Given the description of an element on the screen output the (x, y) to click on. 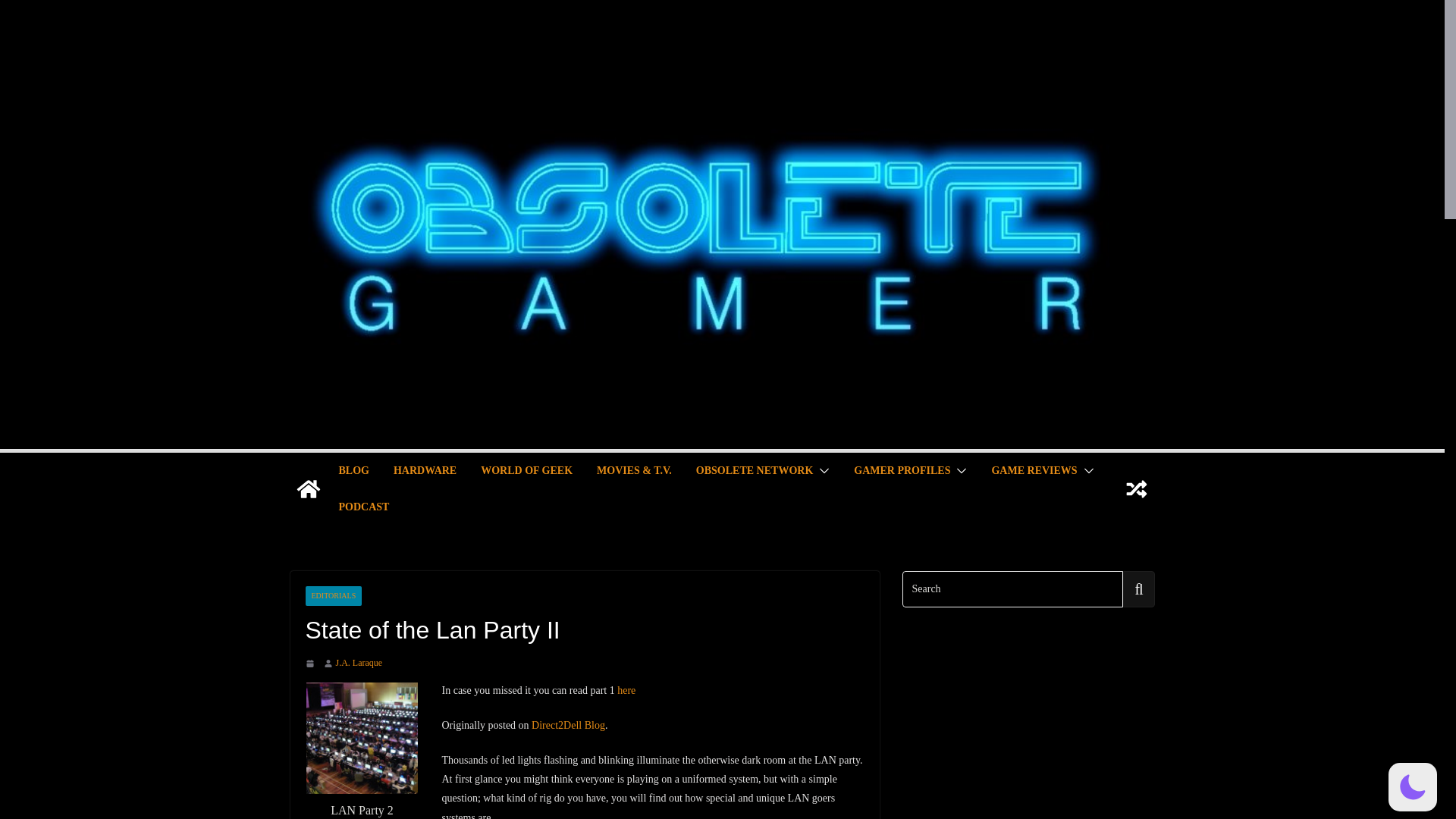
OBSOLETE NETWORK (753, 470)
J.A. Laraque (357, 663)
HARDWARE (425, 470)
BLOG (352, 470)
View a random post (1136, 488)
WORLD OF GEEK (526, 470)
GAME REVIEWS (1034, 470)
LAN Party 2 (361, 737)
GAMER PROFILES (901, 470)
Obsolete Gamer (307, 488)
